Given the description of an element on the screen output the (x, y) to click on. 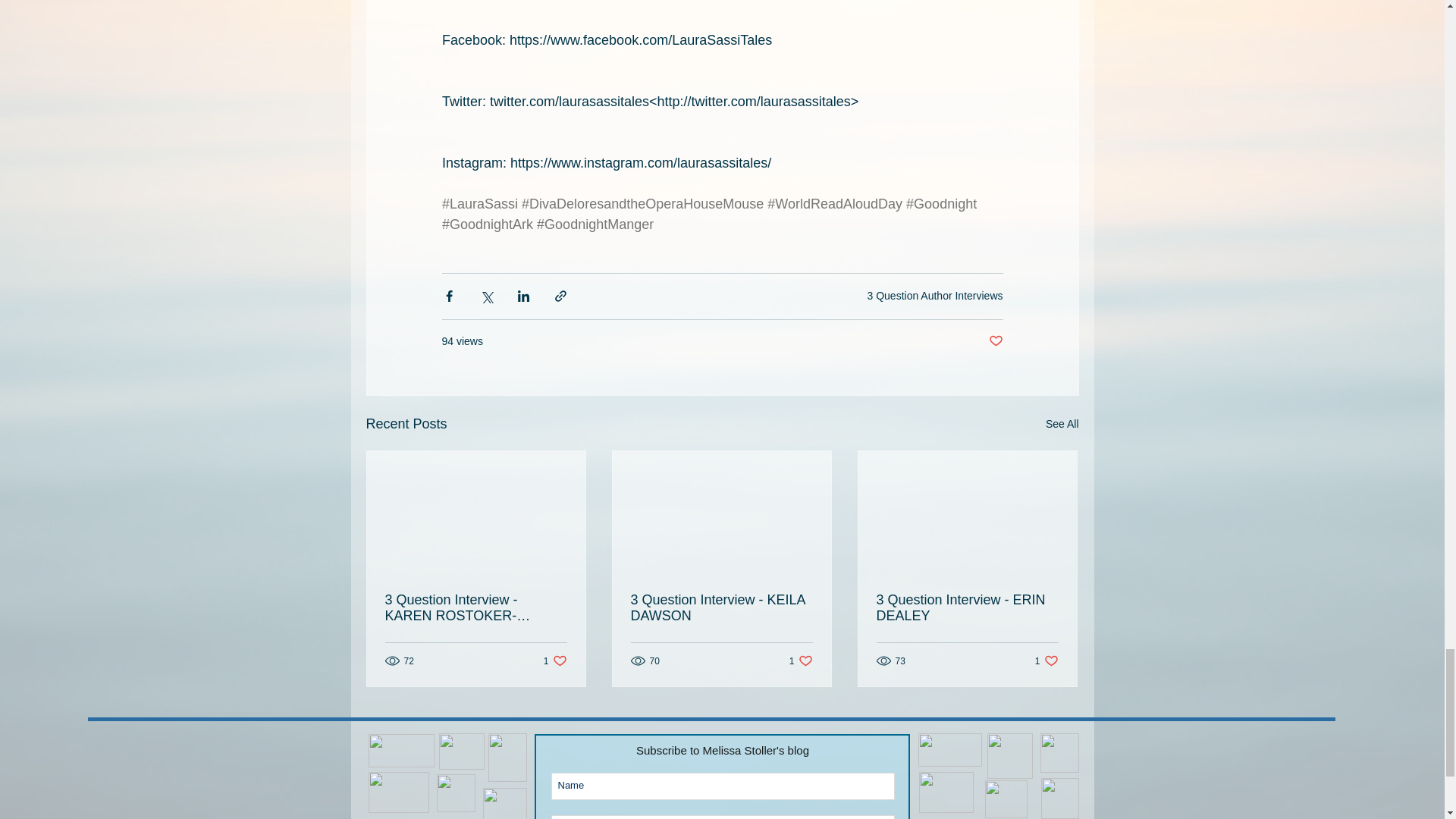
unnamed.jpg (460, 751)
